Given the description of an element on the screen output the (x, y) to click on. 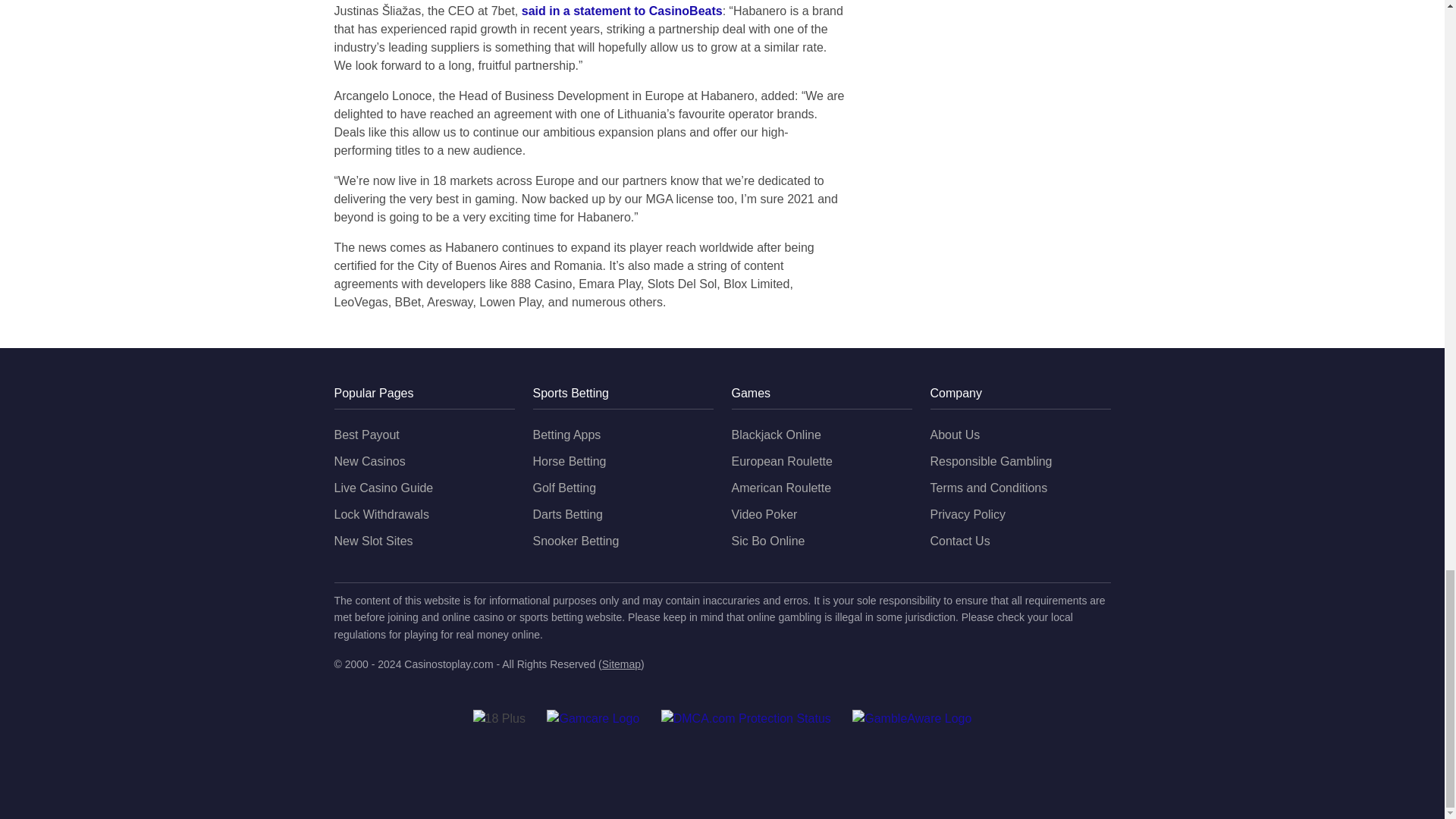
18 Plus (499, 719)
GambleAware Logo (911, 719)
DMCA.com Protection Status (746, 719)
said in a statement to CasinoBeats (621, 10)
Gamcare Logo (593, 719)
